Given the description of an element on the screen output the (x, y) to click on. 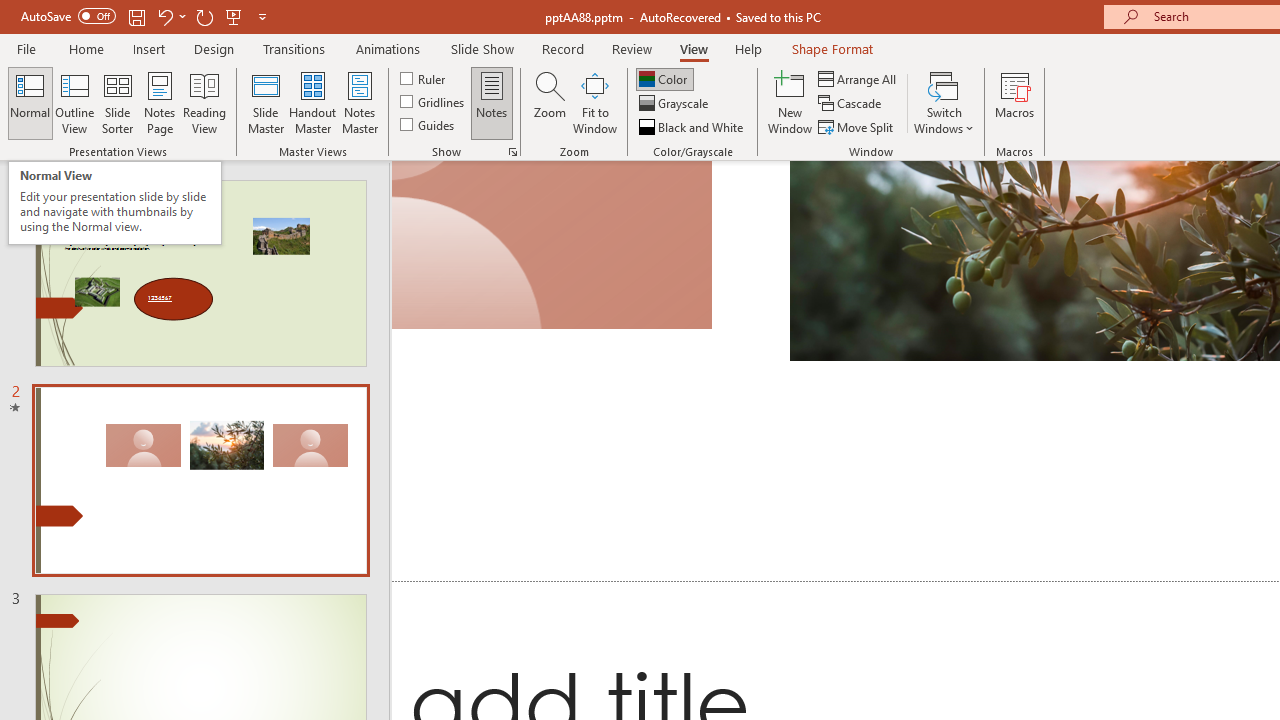
New Window (790, 102)
Fit to Window (594, 102)
Notes Page (159, 102)
Notes (492, 102)
Notes Master (360, 102)
